Given the description of an element on the screen output the (x, y) to click on. 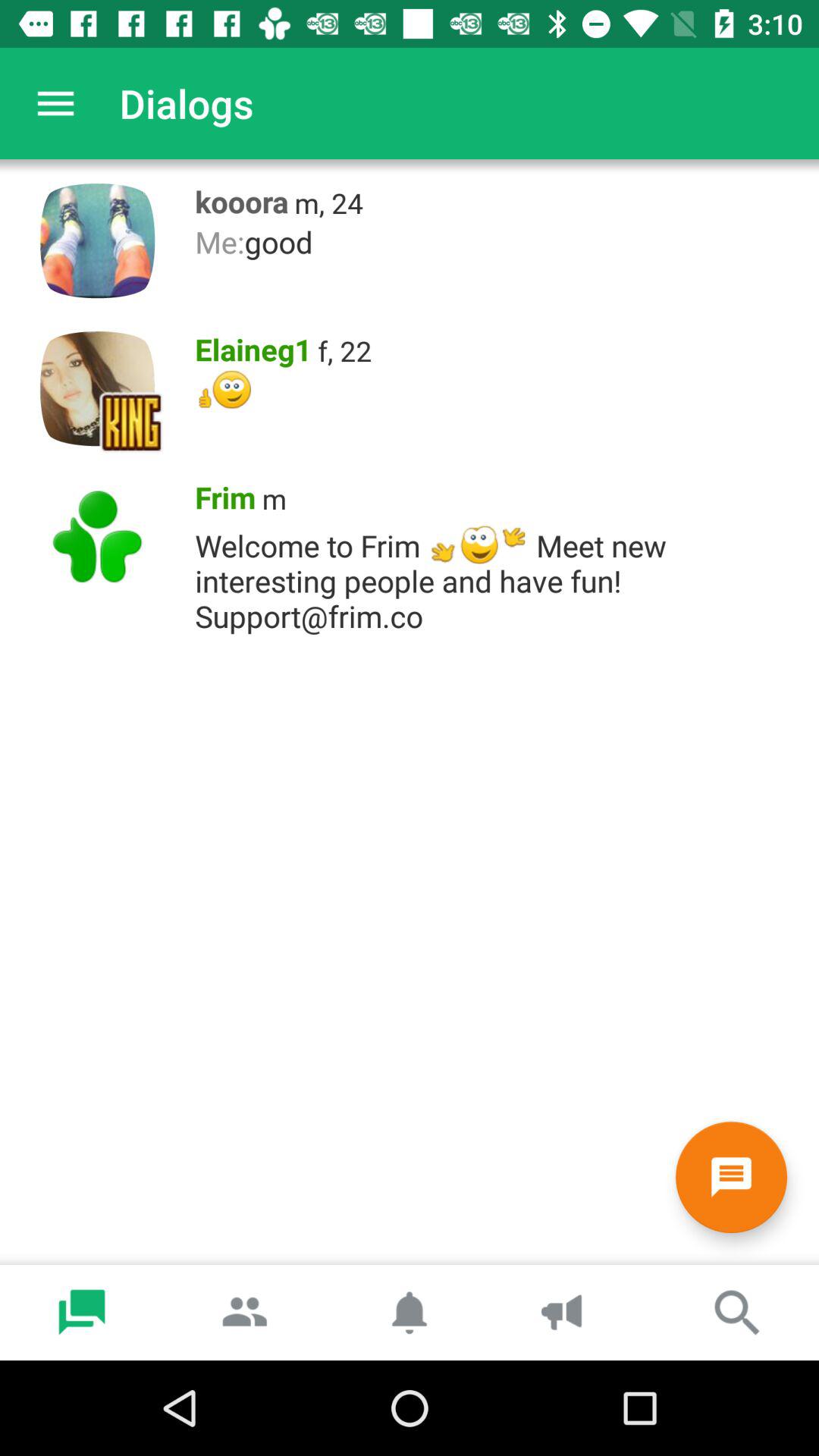
open the f, 22 (344, 350)
